Given the description of an element on the screen output the (x, y) to click on. 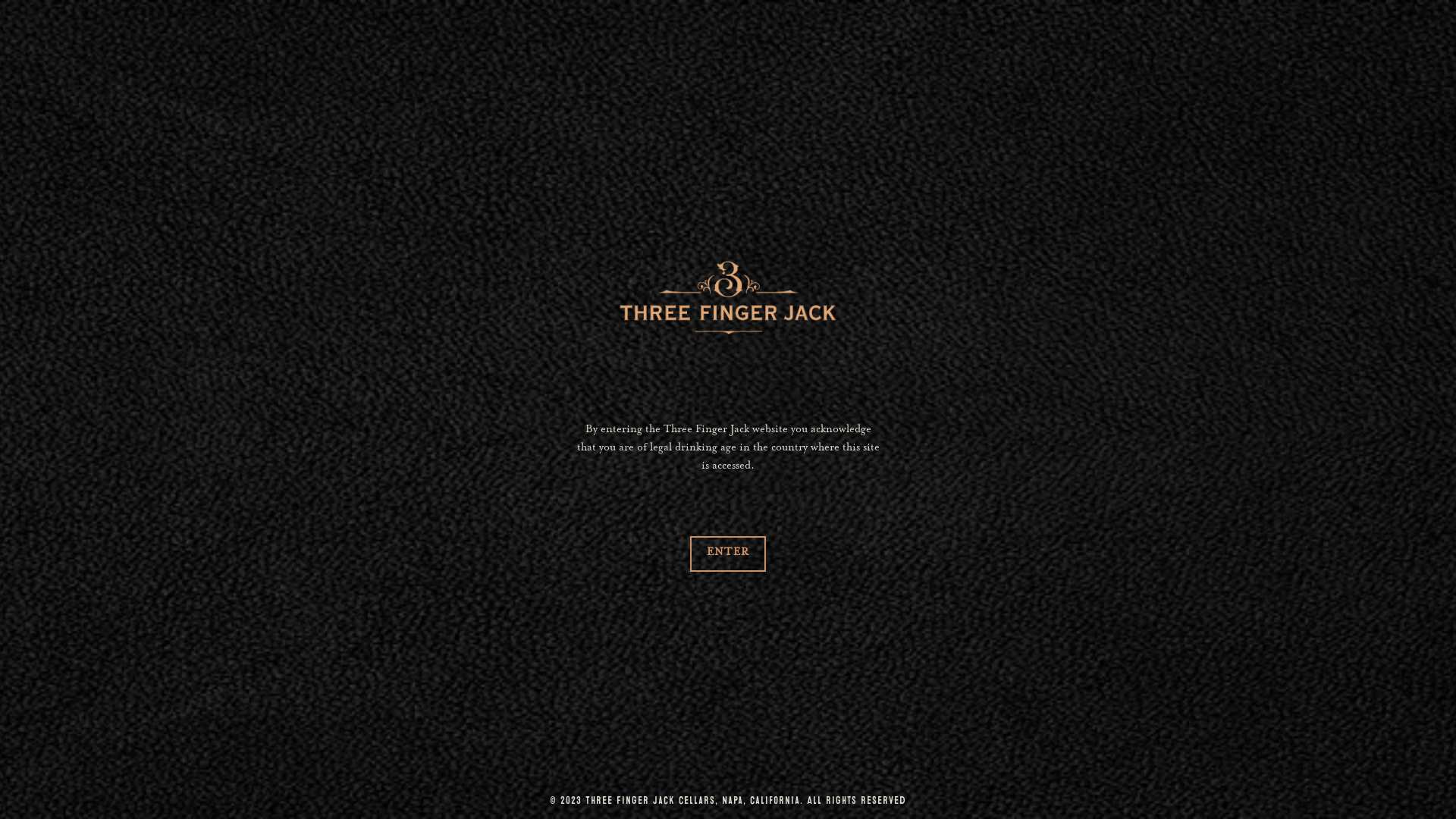
FIND OUR WINES Element type: text (819, 34)
CA SUPPLY CHAINS ACT Element type: text (1018, 562)
TRADE Element type: text (436, 444)
CONTACT Element type: text (436, 404)
ACCESSIBILITY Element type: text (1019, 444)
Find us on facebook Element type: text (964, 319)
Cookie Settings Element type: text (1294, 785)
PRIVACY Element type: text (436, 483)
CA NOTICE AT COLLECTION Element type: text (1019, 522)
ENTER Element type: text (727, 553)
Do not sell my personal information Element type: text (135, 801)
HOME Element type: text (491, 34)
Go to homepage Element type: text (727, 115)
TERMS Element type: text (1019, 404)
THE WINE Element type: text (579, 34)
Find us on instagram Element type: text (1000, 319)
Find us on facebook Element type: text (1323, 34)
Accept All Element type: text (1398, 785)
JACK'S STORY Element type: text (689, 34)
RESOURCE CENTER Element type: text (965, 34)
Find us on instagram Element type: text (1360, 34)
JOIN Element type: text (797, 318)
